Given the description of an element on the screen output the (x, y) to click on. 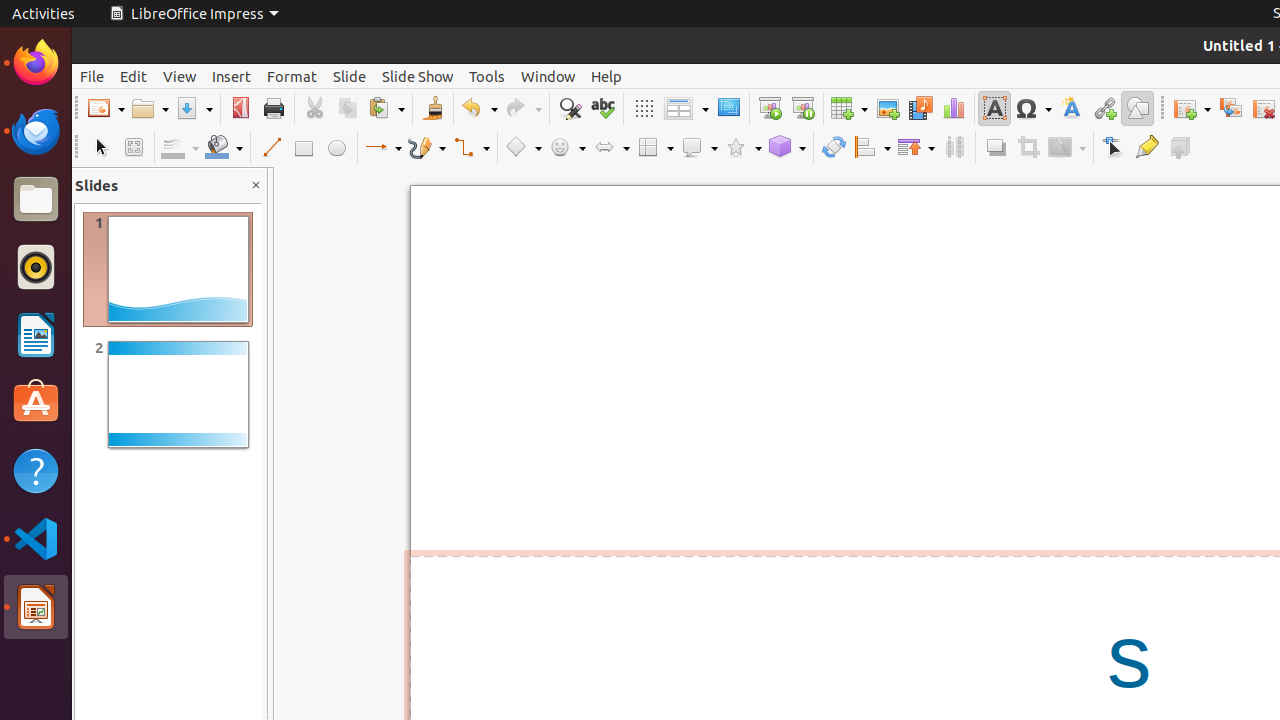
Media Element type: push-button (920, 108)
Flowchart Shapes Element type: push-button (655, 147)
Chart Element type: push-button (953, 108)
Slide Element type: menu (349, 76)
Open Element type: push-button (150, 108)
